Given the description of an element on the screen output the (x, y) to click on. 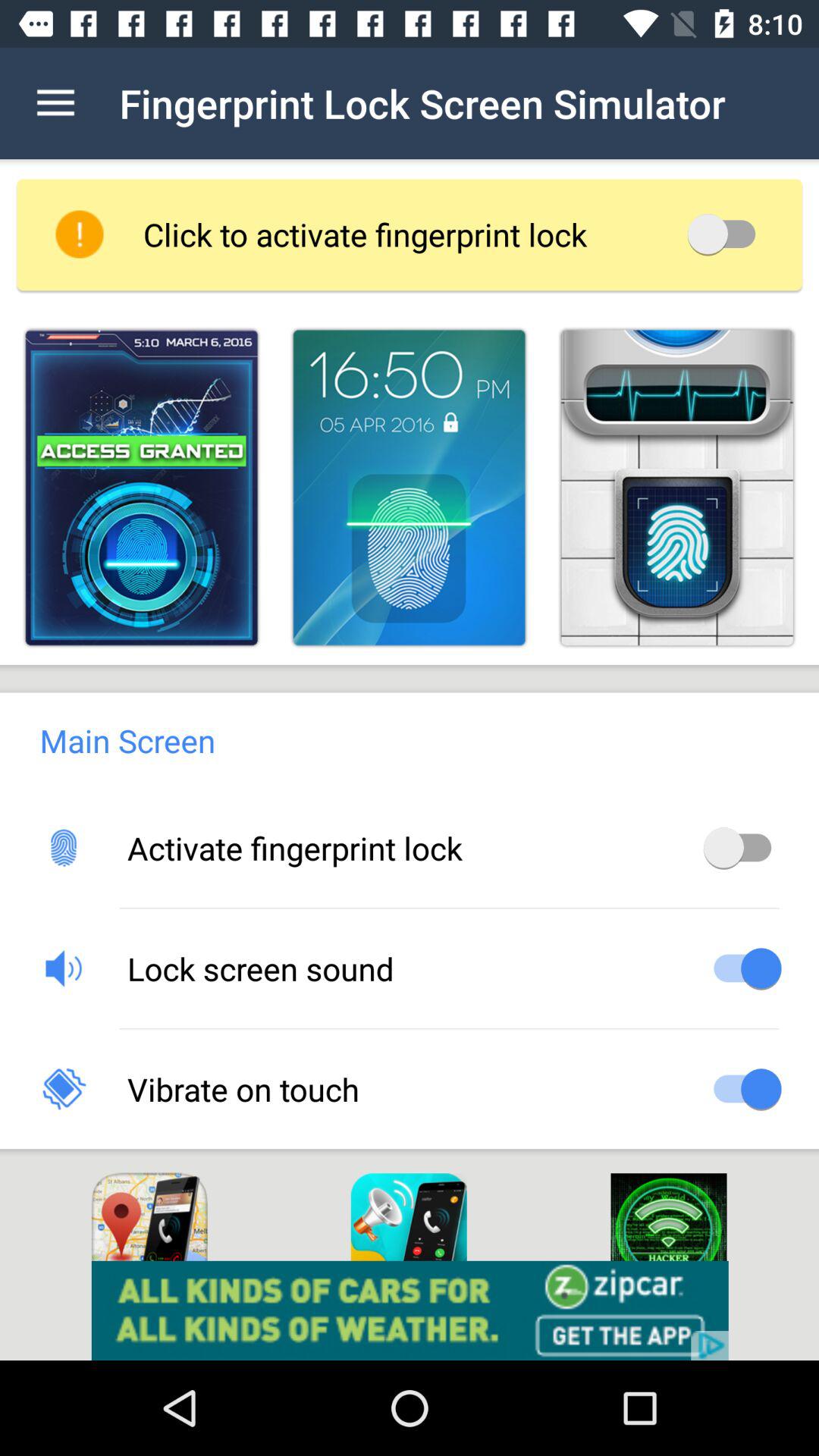
fingerprint (677, 487)
